Given the description of an element on the screen output the (x, y) to click on. 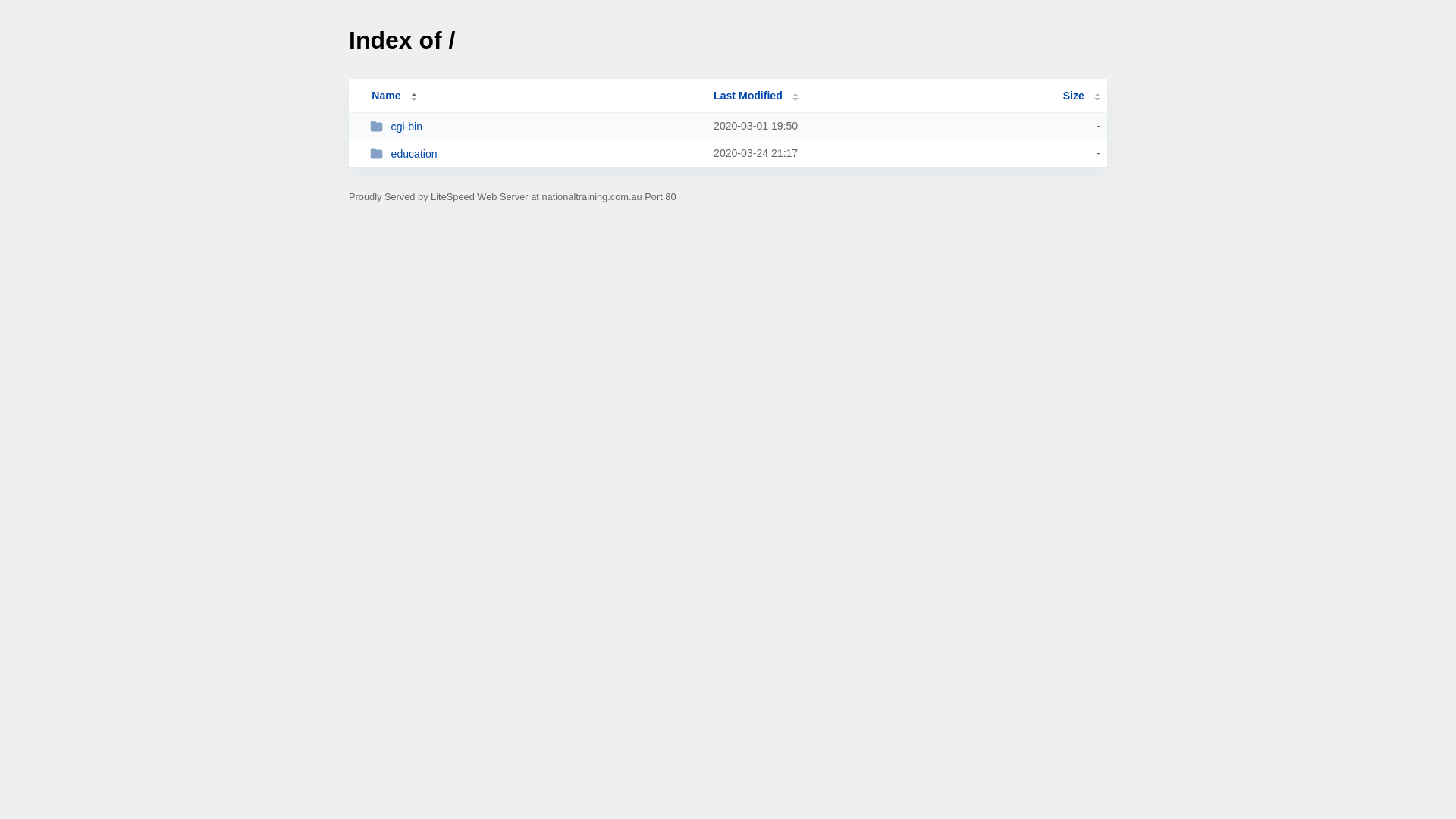
Last Modified Element type: text (755, 95)
Size Element type: text (1081, 95)
Name Element type: text (385, 95)
cgi-bin Element type: text (534, 125)
education Element type: text (534, 153)
